Given the description of an element on the screen output the (x, y) to click on. 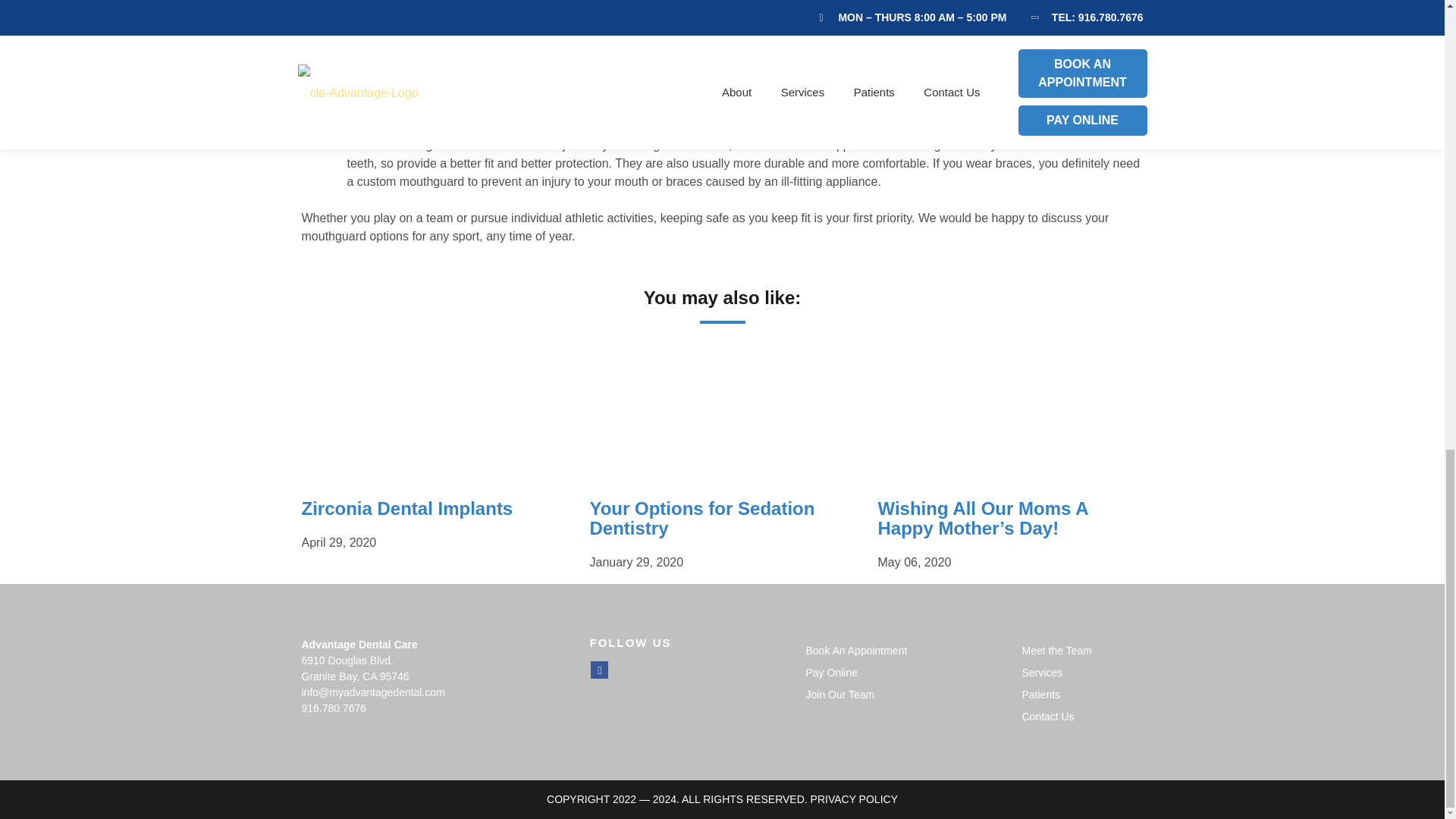
Opens in new tab (831, 672)
Your Options for Sedation Dentistry (701, 517)
Opens in new tab (599, 669)
Zirconia Dental Implants (407, 507)
Opens in new tab (856, 650)
916.780.7676 (333, 707)
